Given the description of an element on the screen output the (x, y) to click on. 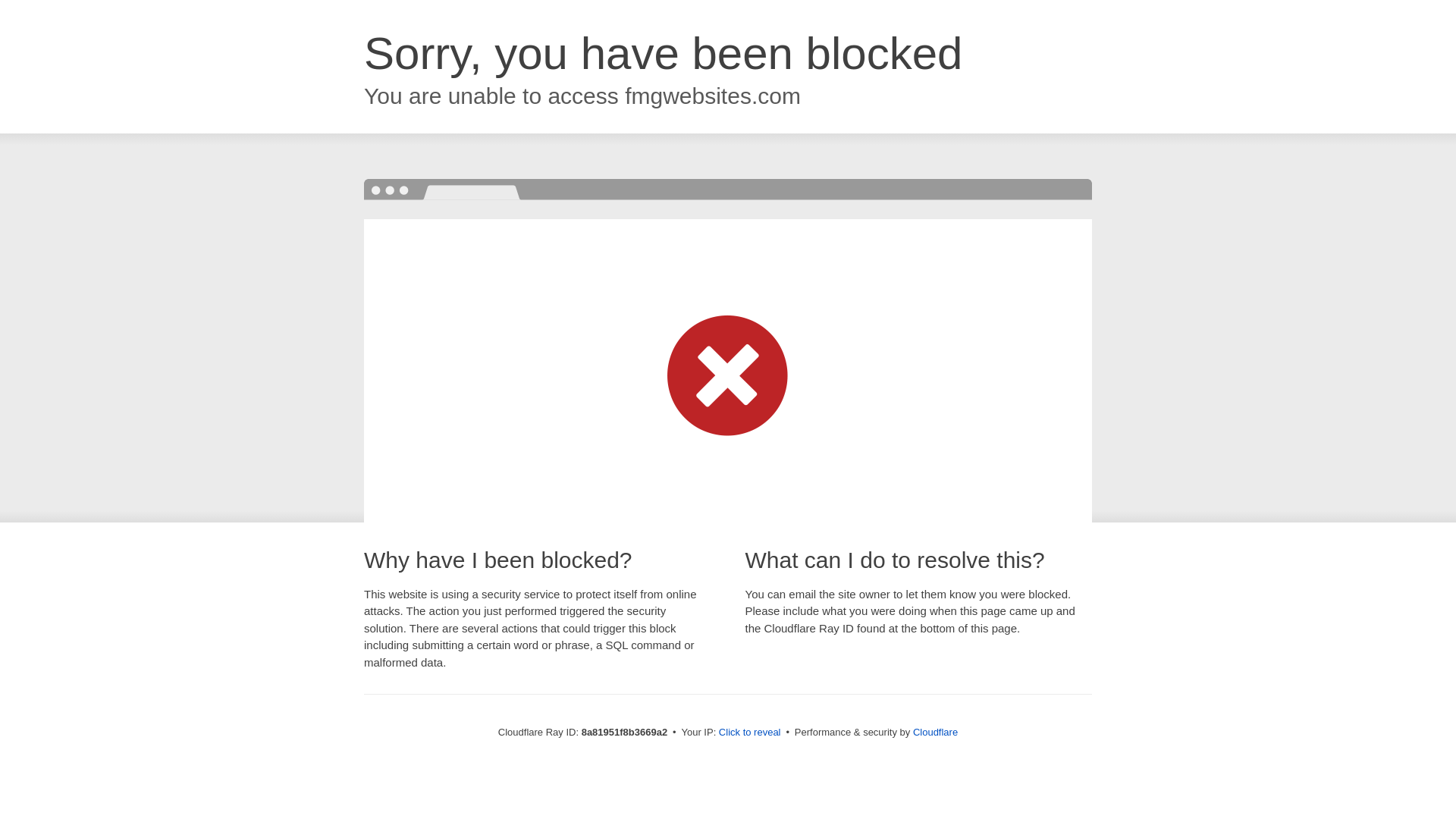
Cloudflare (935, 731)
Click to reveal (749, 732)
